Given the description of an element on the screen output the (x, y) to click on. 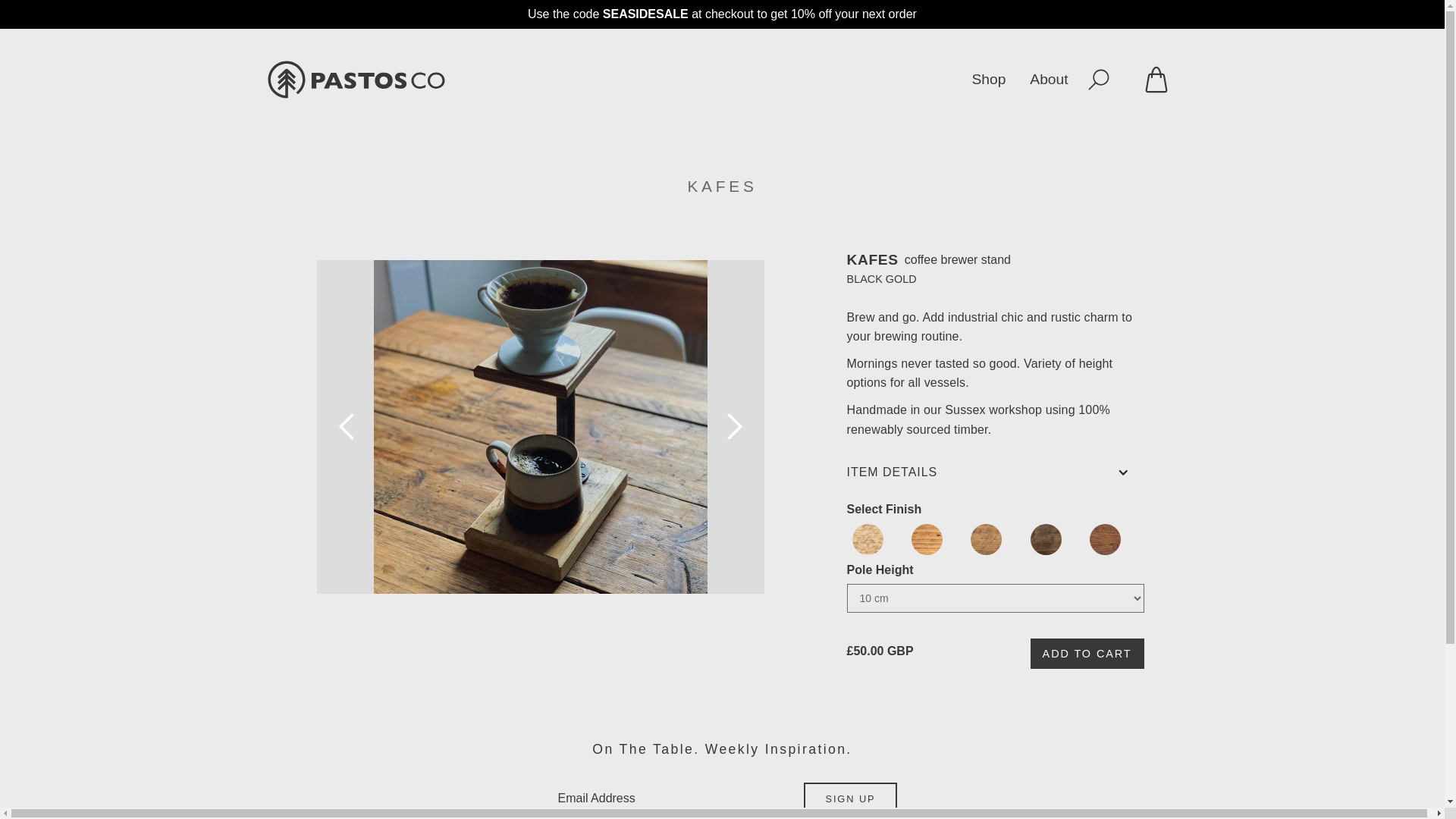
Add to Cart (1087, 653)
About (1048, 78)
Add to Cart (1087, 653)
Sign Up (849, 798)
Shop (988, 78)
Sign Up (849, 798)
